Given the description of an element on the screen output the (x, y) to click on. 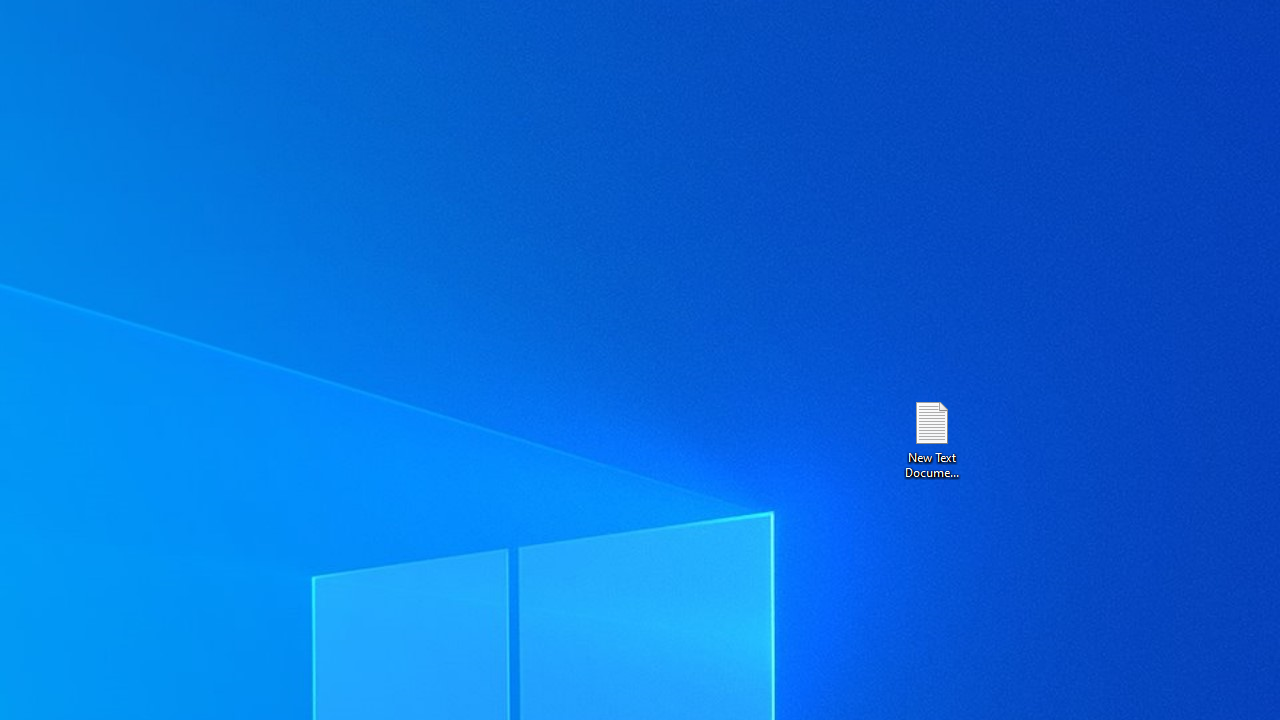
New Text Document (2) (931, 438)
